Given the description of an element on the screen output the (x, y) to click on. 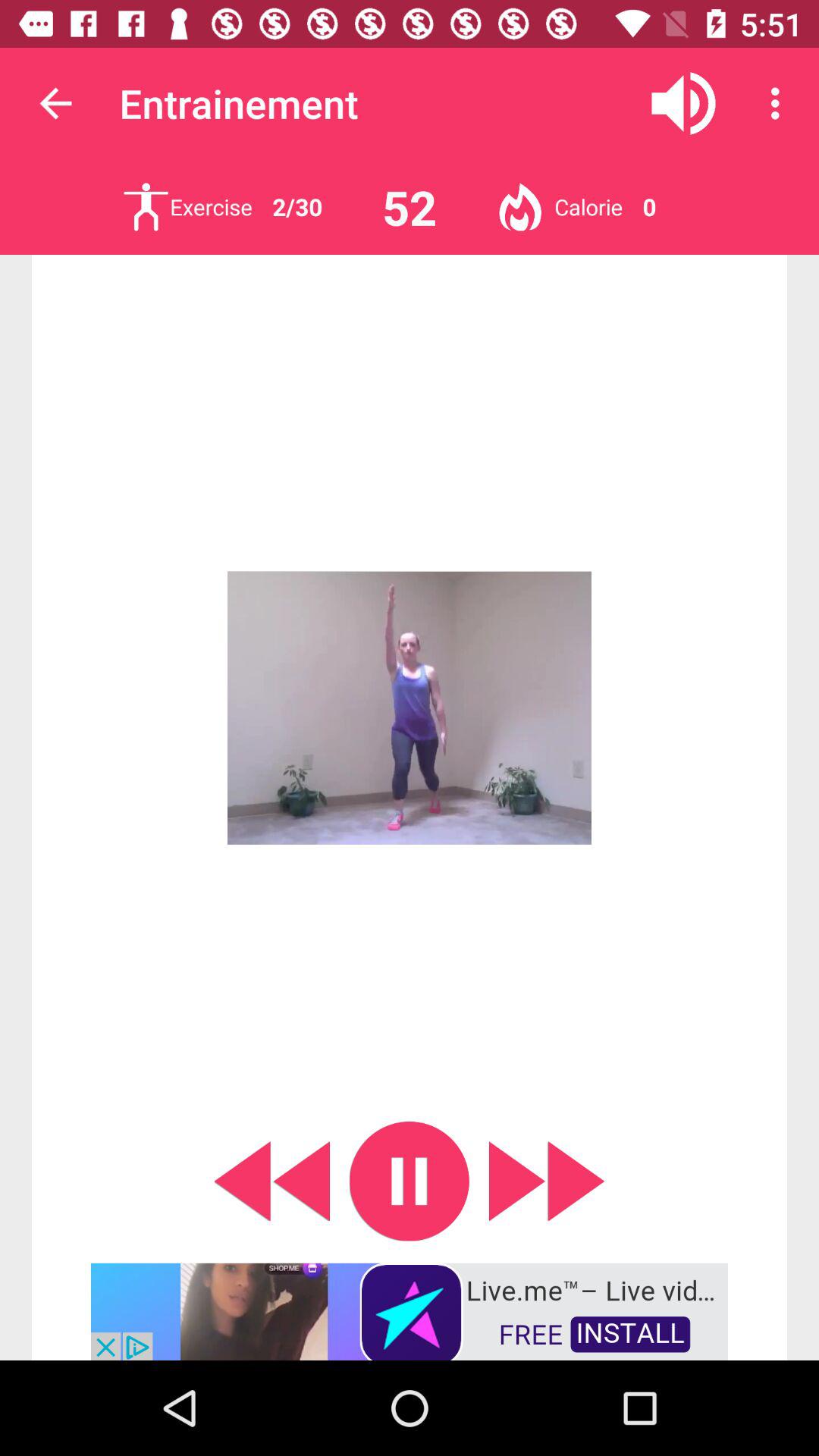
proceed to next (546, 1181)
